Given the description of an element on the screen output the (x, y) to click on. 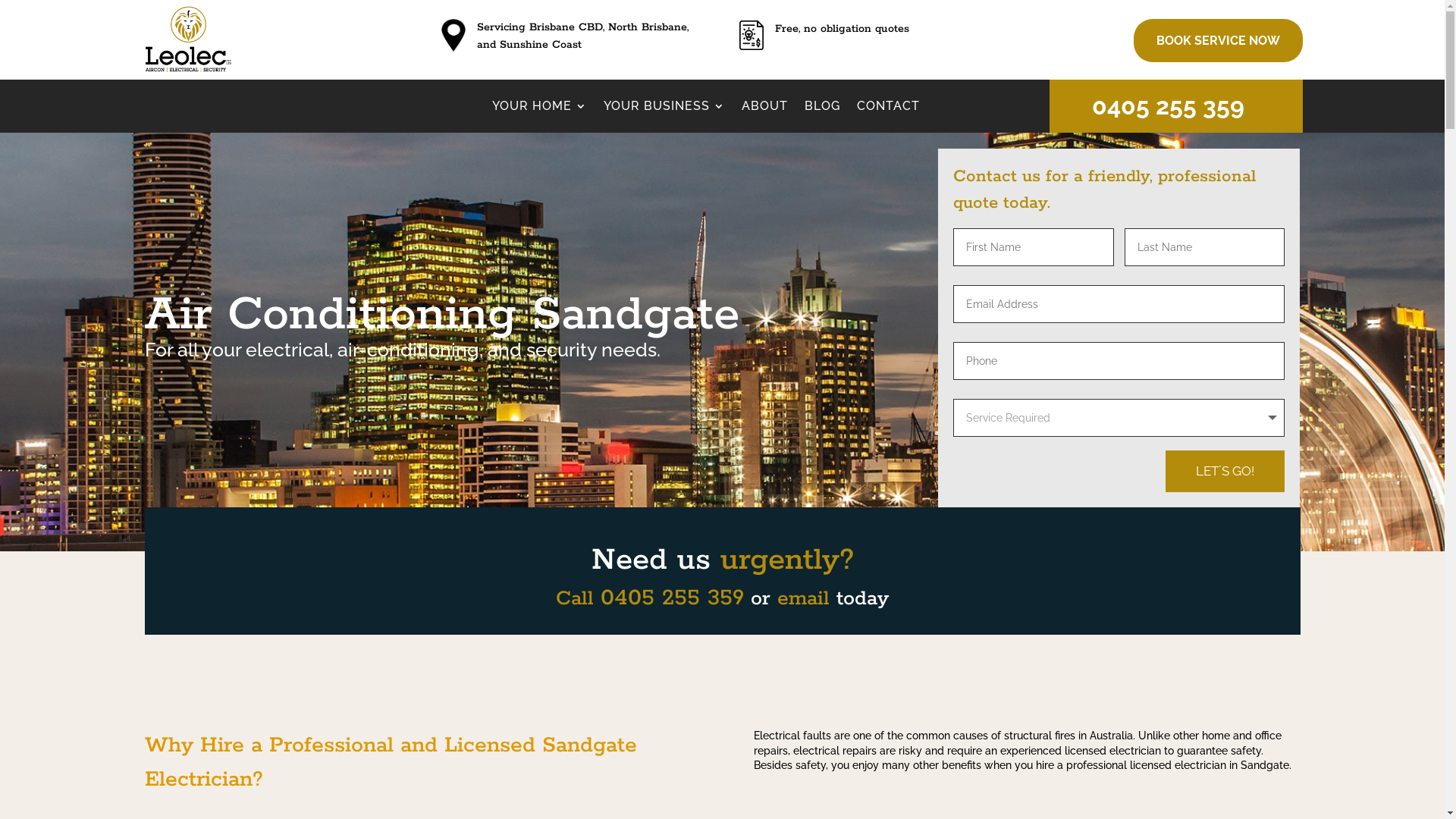
email Element type: text (803, 598)
ABOUT Element type: text (764, 108)
BOOK SERVICE NOW Element type: text (1217, 40)
BLOG Element type: text (822, 108)
YOUR HOME Element type: text (539, 108)
0405 255 359 Element type: text (1168, 105)
CONTACT Element type: text (887, 108)
Servicing Brisbane CBD, North Brisbane, and Sunshine Coast Element type: text (582, 35)
leolec-stacked-logo Element type: hover (187, 71)
Call 0405 255 359 Element type: text (649, 598)
YOUR BUSINESS Element type: text (663, 108)
